Given the description of an element on the screen output the (x, y) to click on. 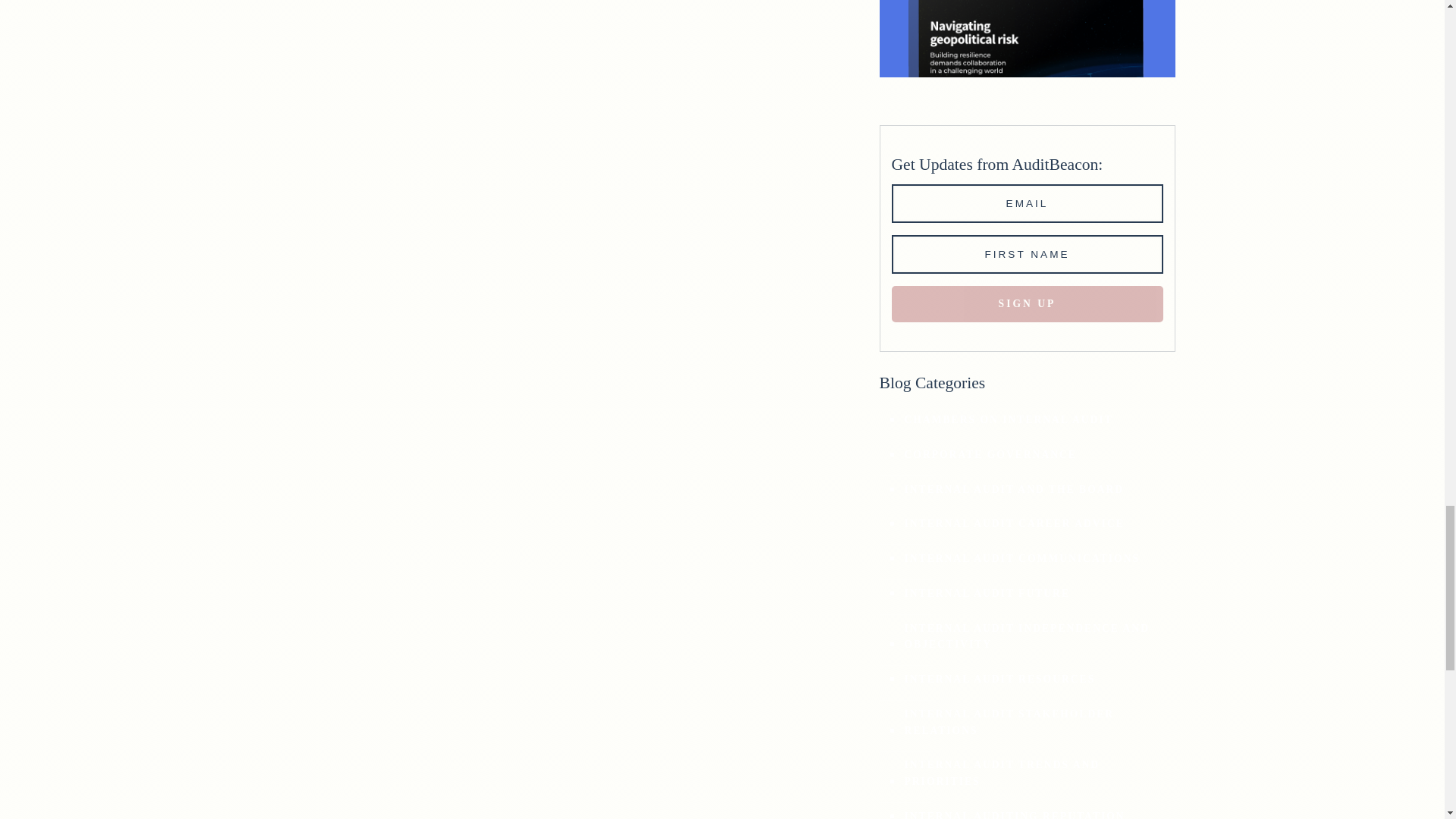
CHAMBERS ON INTERNAL AUDIT (1007, 420)
INTERNAL AUDIT FUTURE (986, 593)
CORPORATE GOVERNANCE (989, 454)
INTERNAL AUDIT CAREER ADVICE (1013, 523)
INTERNAL AUDIT AND THE BOARD (1013, 489)
INTERNAL AUDIT COMMUNICATIONS (1021, 558)
Sign Up (1027, 303)
INTERNAL AUDIT INDEPENDENCE AND OBJECTIVITY (1034, 637)
Sign Up (1027, 303)
